Given the description of an element on the screen output the (x, y) to click on. 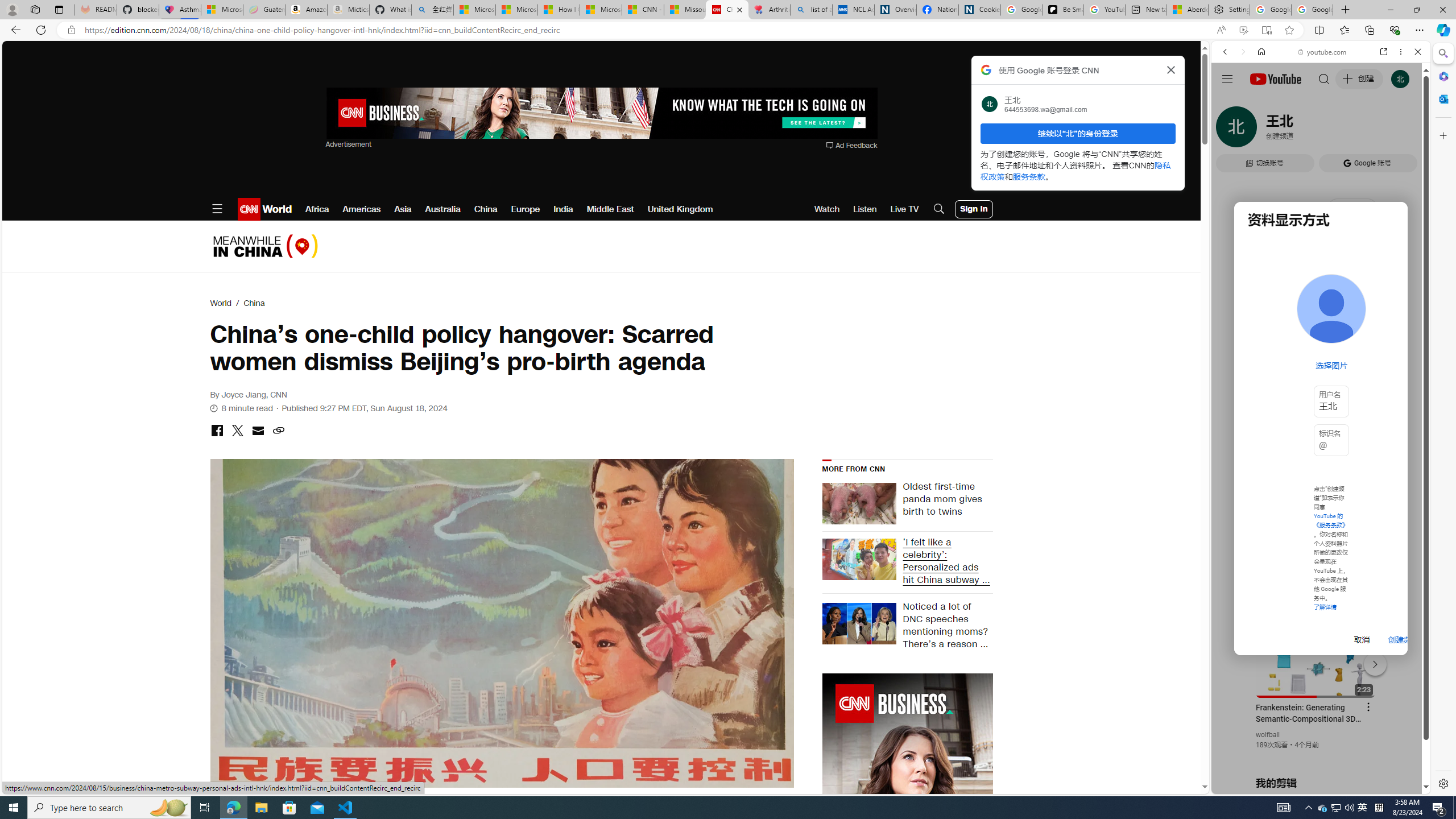
copy link to clipboard (277, 430)
Africa (317, 209)
Asthma Inhalers: Names and Types (179, 9)
you (1315, 755)
list of asthma inhalers uk - Search (810, 9)
Watch (826, 208)
